Given the description of an element on the screen output the (x, y) to click on. 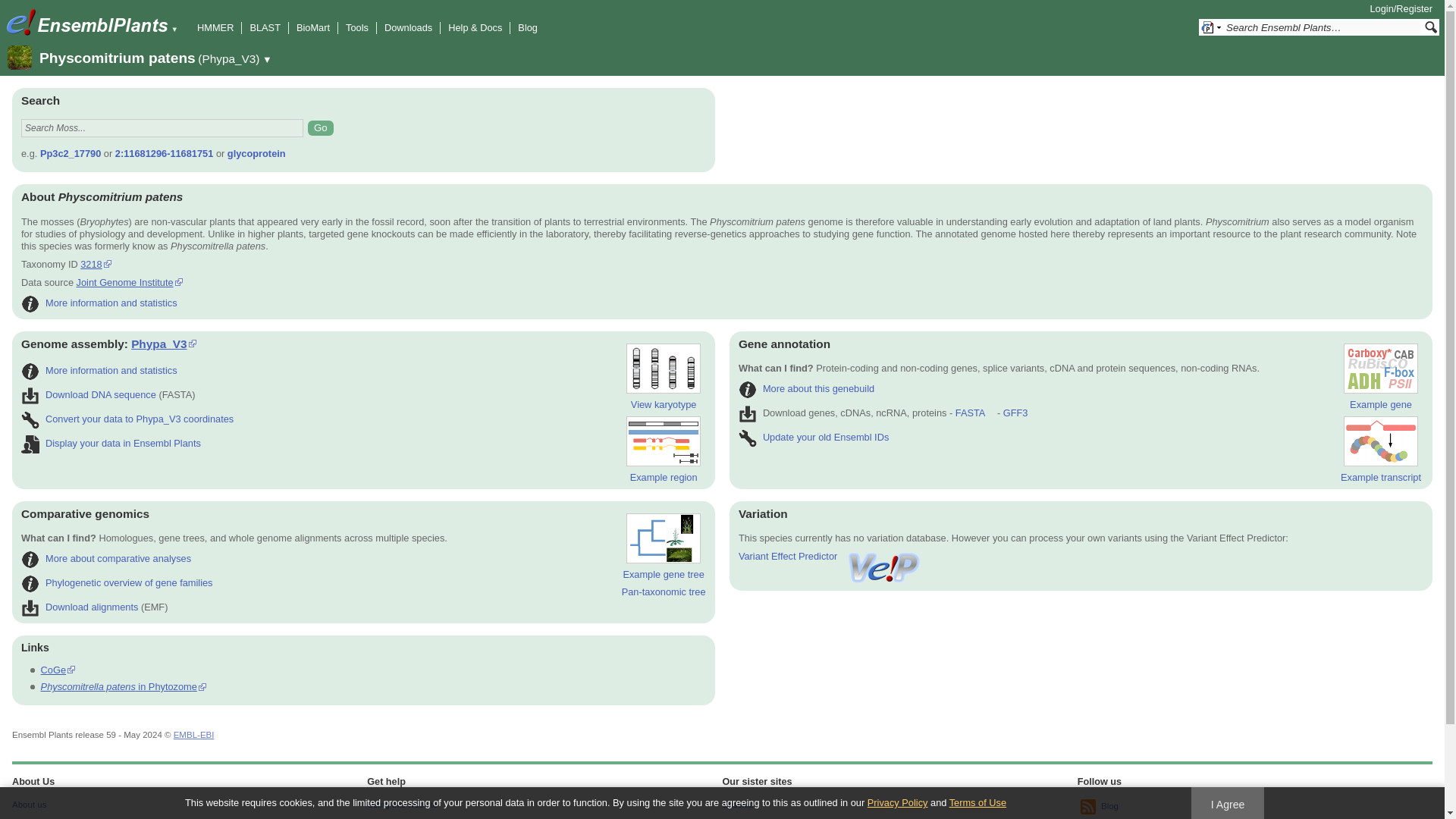
BioMart (313, 27)
HMMER (214, 27)
Tools (357, 27)
BLAST (264, 27)
Search Moss... (161, 127)
Downloads (408, 27)
Ensembl Plants Home (102, 22)
Go (320, 127)
Ensembl Genomes Home (20, 22)
Blog (527, 27)
Ensembl blog (1088, 806)
